Given the description of an element on the screen output the (x, y) to click on. 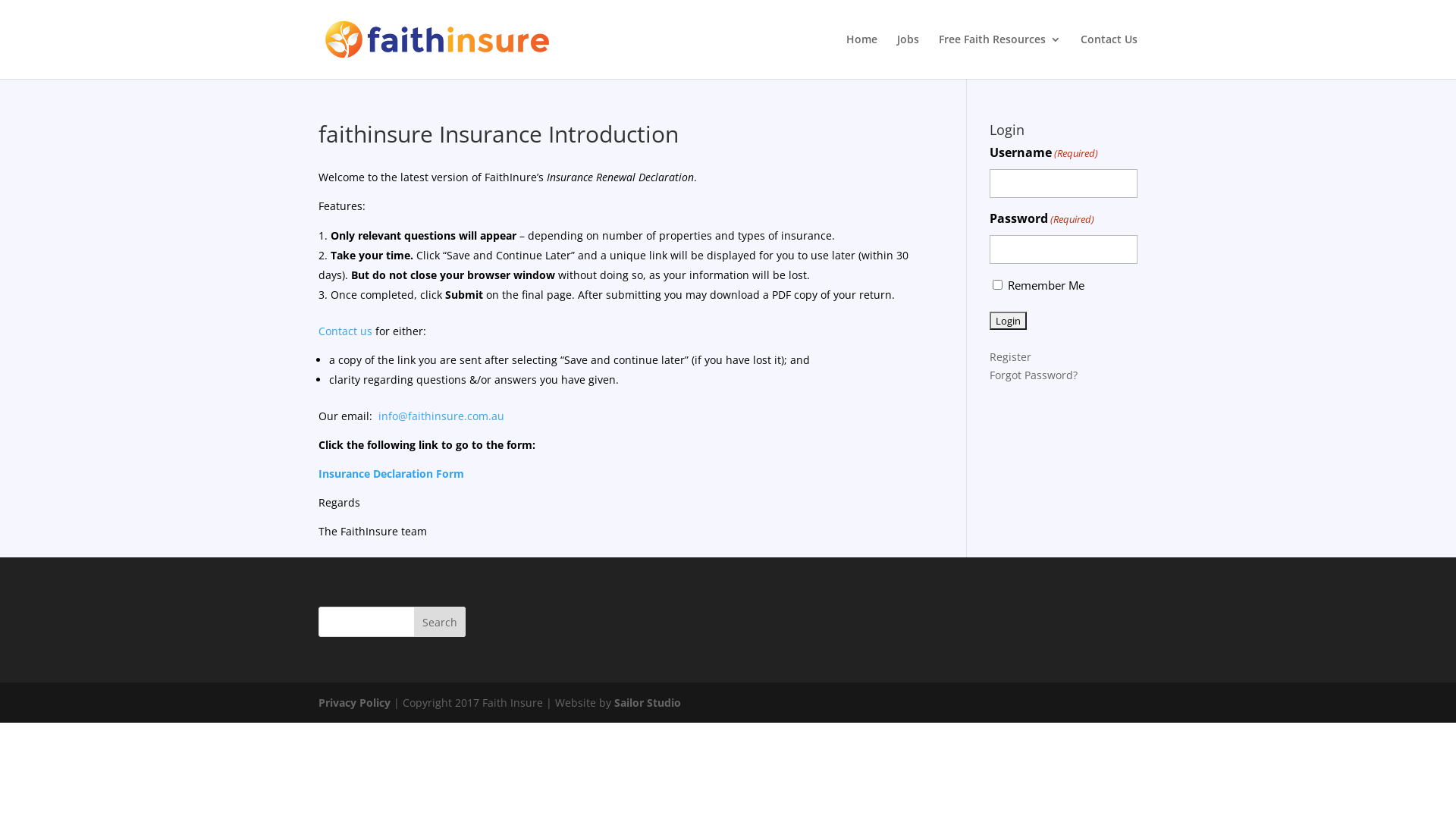
Register Element type: text (1010, 356)
Search Element type: text (439, 621)
Jobs Element type: text (908, 56)
Forgot Password? Element type: text (1033, 374)
Contact Us Element type: text (1108, 56)
info@faithinsure.com.au Element type: text (441, 415)
Login Element type: text (1007, 320)
Sailor Studio Element type: text (647, 702)
Free Faith Resources Element type: text (999, 56)
Contact us Element type: text (346, 330)
Home Element type: text (861, 56)
Insurance Declaration Form Element type: text (391, 473)
Privacy Policy Element type: text (354, 702)
